Given the description of an element on the screen output the (x, y) to click on. 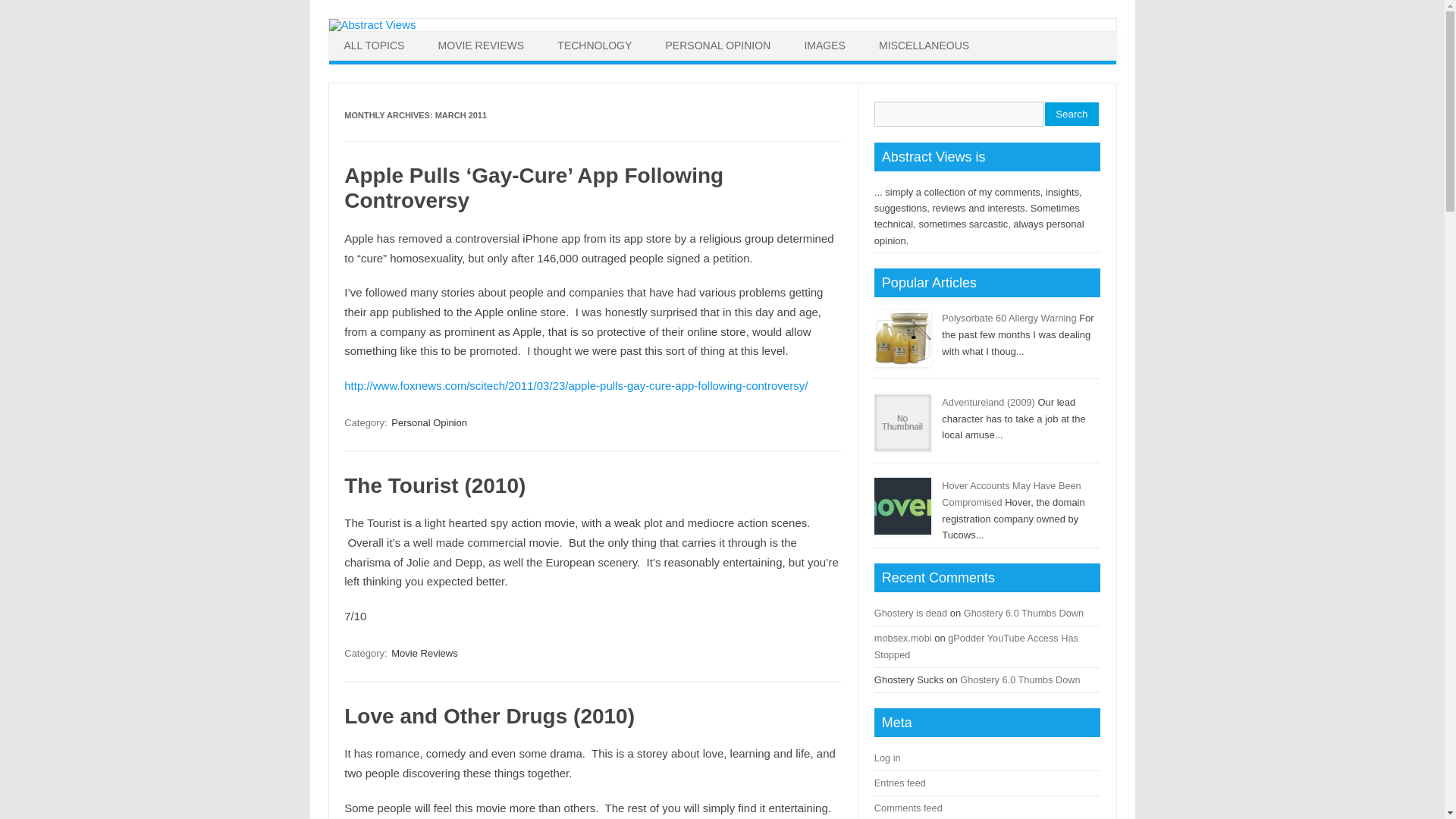
Search (1072, 114)
Ghostery is dead (911, 613)
MISCELLANEOUS (923, 45)
Entries feed (900, 782)
Ghostery 6.0 Thumbs Down (1023, 613)
Log in (888, 757)
TECHNOLOGY (593, 45)
PERSONAL OPINION (718, 45)
Movie Reviews (424, 653)
ALL TOPICS (374, 45)
